Given the description of an element on the screen output the (x, y) to click on. 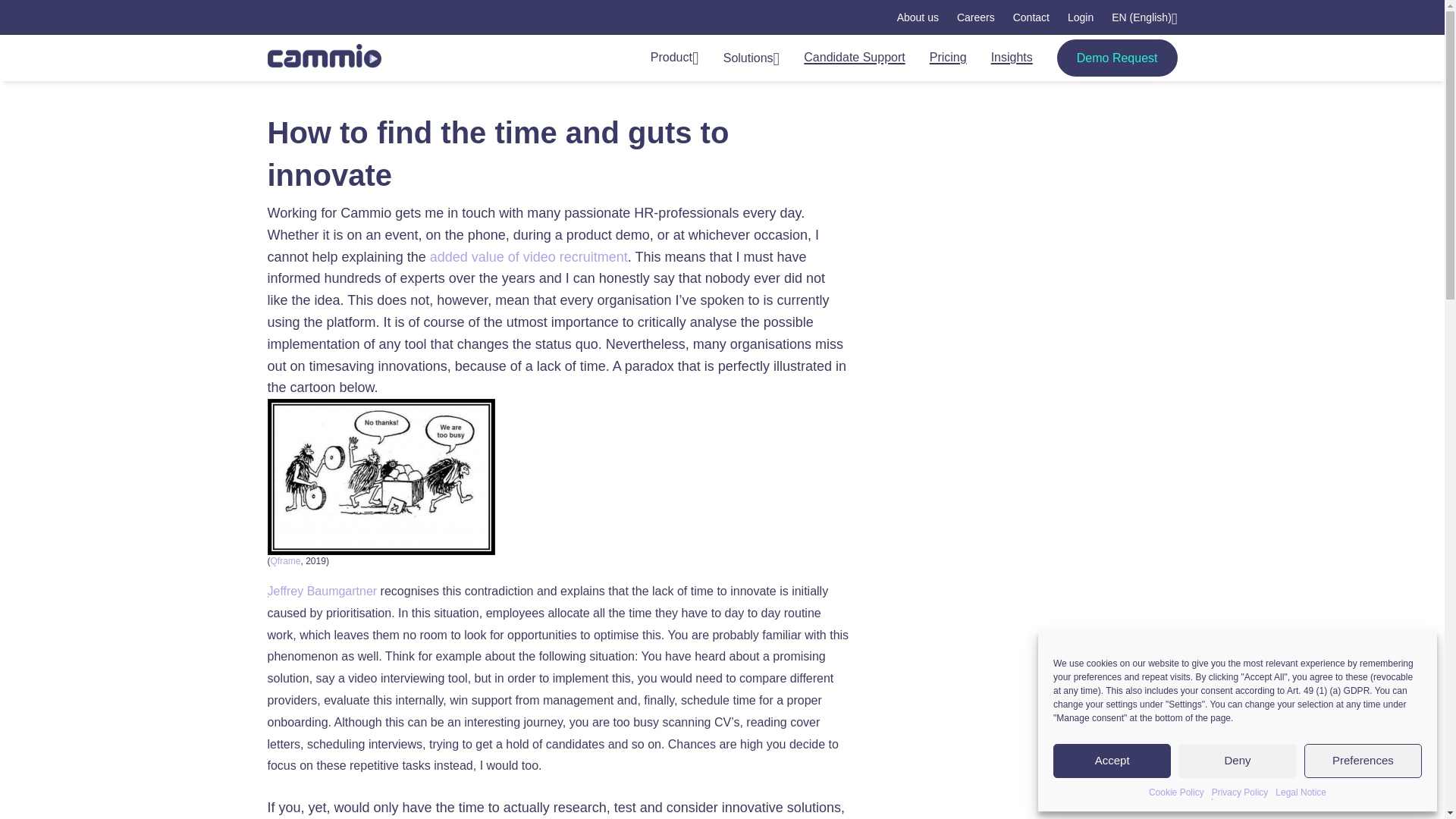
Deny (1236, 760)
Careers (975, 17)
Privacy Policy (1239, 792)
Candidate Support (853, 57)
Product (674, 58)
Legal Notice (1300, 792)
Cookie Policy (1176, 792)
Pricing (948, 57)
Preferences (1363, 760)
Insights (1011, 57)
Accept (1111, 760)
Contact (1031, 17)
About us (917, 17)
Solutions (751, 58)
Demo Request (1117, 57)
